Given the description of an element on the screen output the (x, y) to click on. 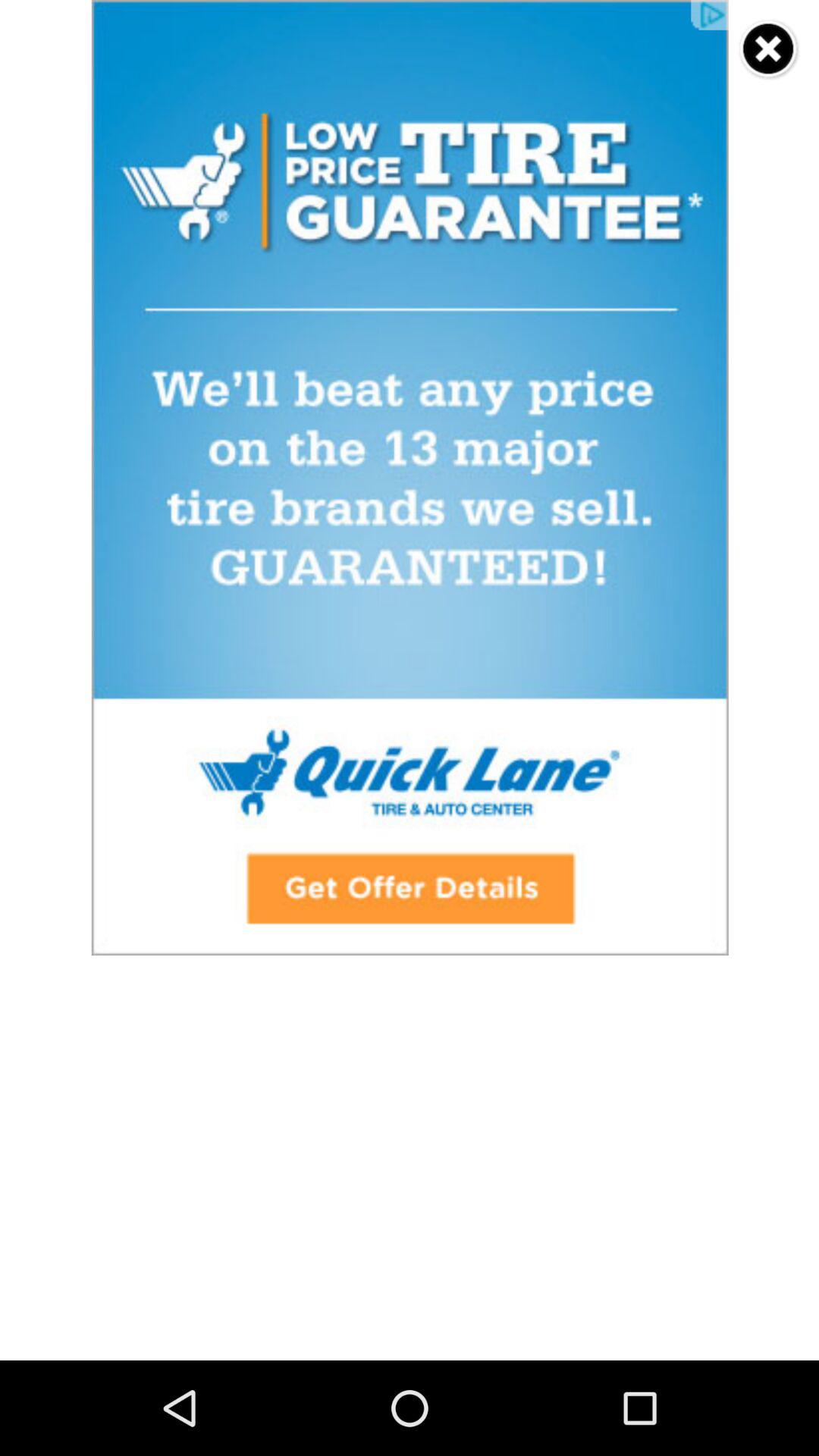
close page (769, 49)
